Given the description of an element on the screen output the (x, y) to click on. 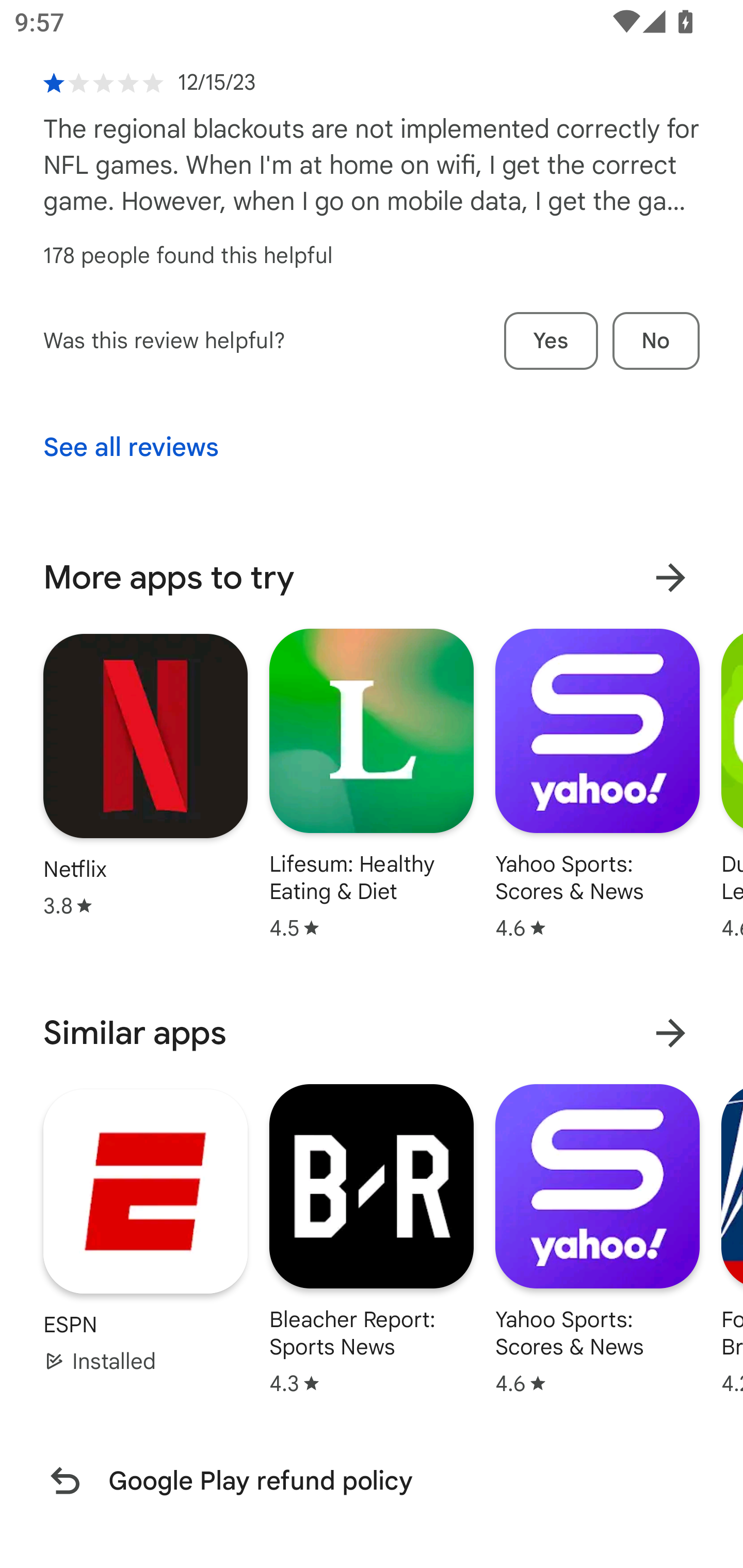
Yes (550, 340)
No (655, 340)
See all reviews (130, 447)
More apps to try More results for More apps to try (371, 577)
More results for More apps to try (670, 577)
Netflix
Star rating: 3.8
 (145, 774)
Lifesum: Healthy Eating & Diet
Star rating: 4.5
 (371, 783)
Yahoo Sports: Scores & News
Star rating: 4.6
 (597, 783)
Similar apps More results for Similar apps (371, 1033)
More results for Similar apps (670, 1033)
ESPN
Installed
 (145, 1230)
Bleacher Report: Sports News
Star rating: 4.3
 (371, 1238)
Yahoo Sports: Scores & News
Star rating: 4.6
 (597, 1238)
Google Play refund policy (371, 1480)
